Given the description of an element on the screen output the (x, y) to click on. 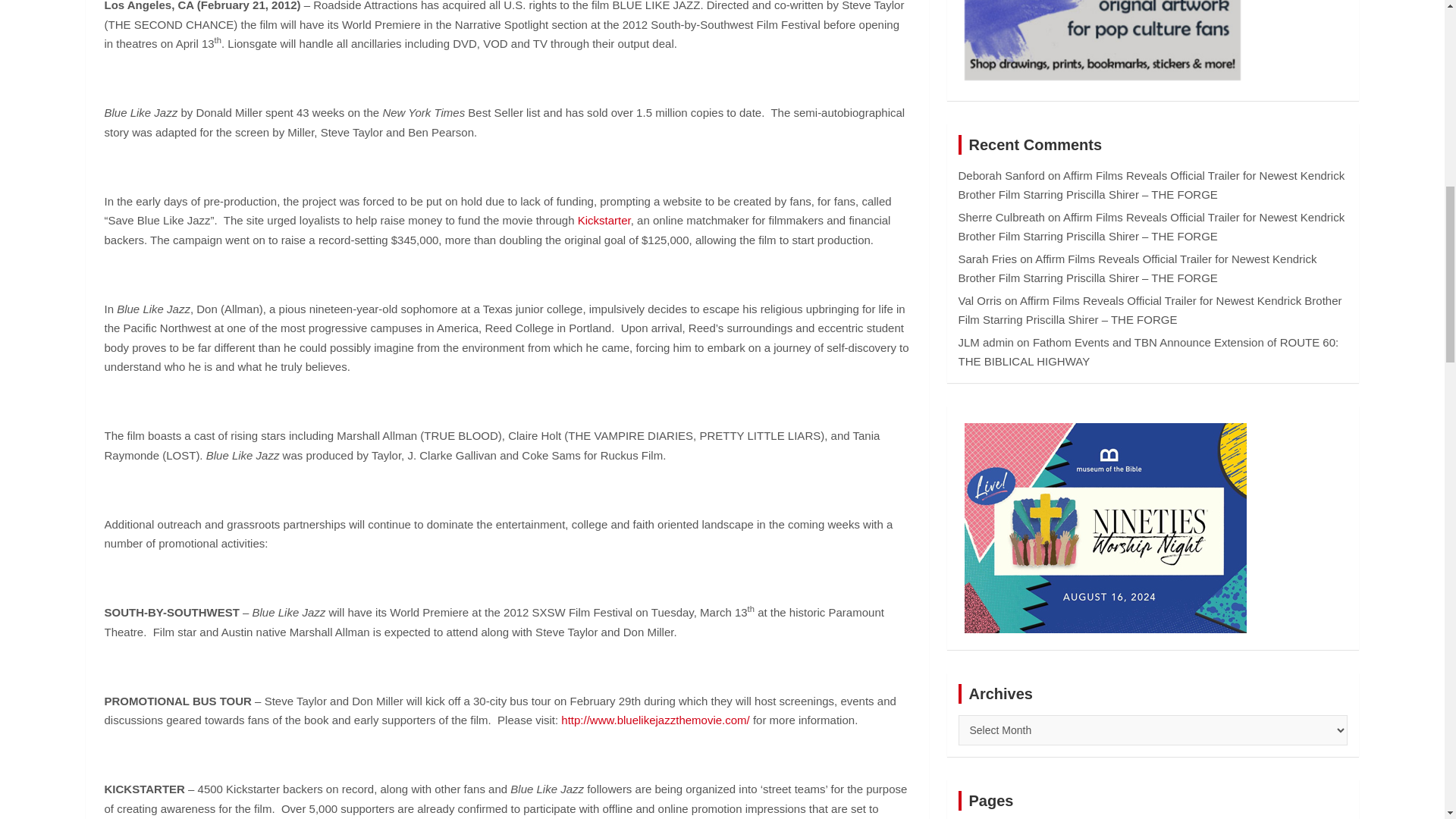
Kickstarter (604, 219)
Kickstarter (604, 219)
